Given the description of an element on the screen output the (x, y) to click on. 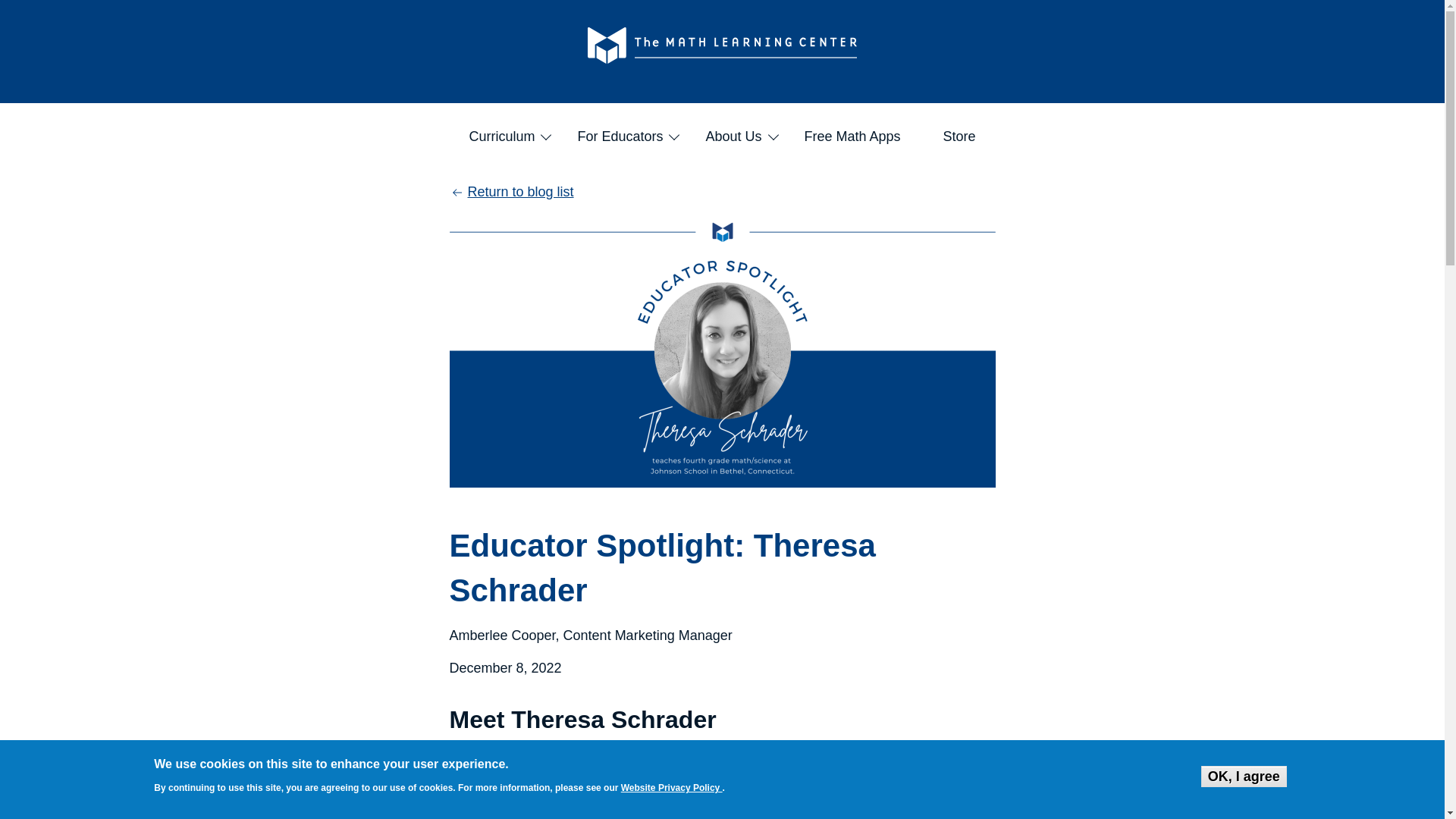
Curriculum (502, 136)
Website Privacy Policy (671, 787)
For Educators (619, 136)
OK, I agree (1244, 776)
Store (959, 136)
Free Math Apps (852, 136)
Return to blog list (510, 191)
About Us (733, 136)
